Given the description of an element on the screen output the (x, y) to click on. 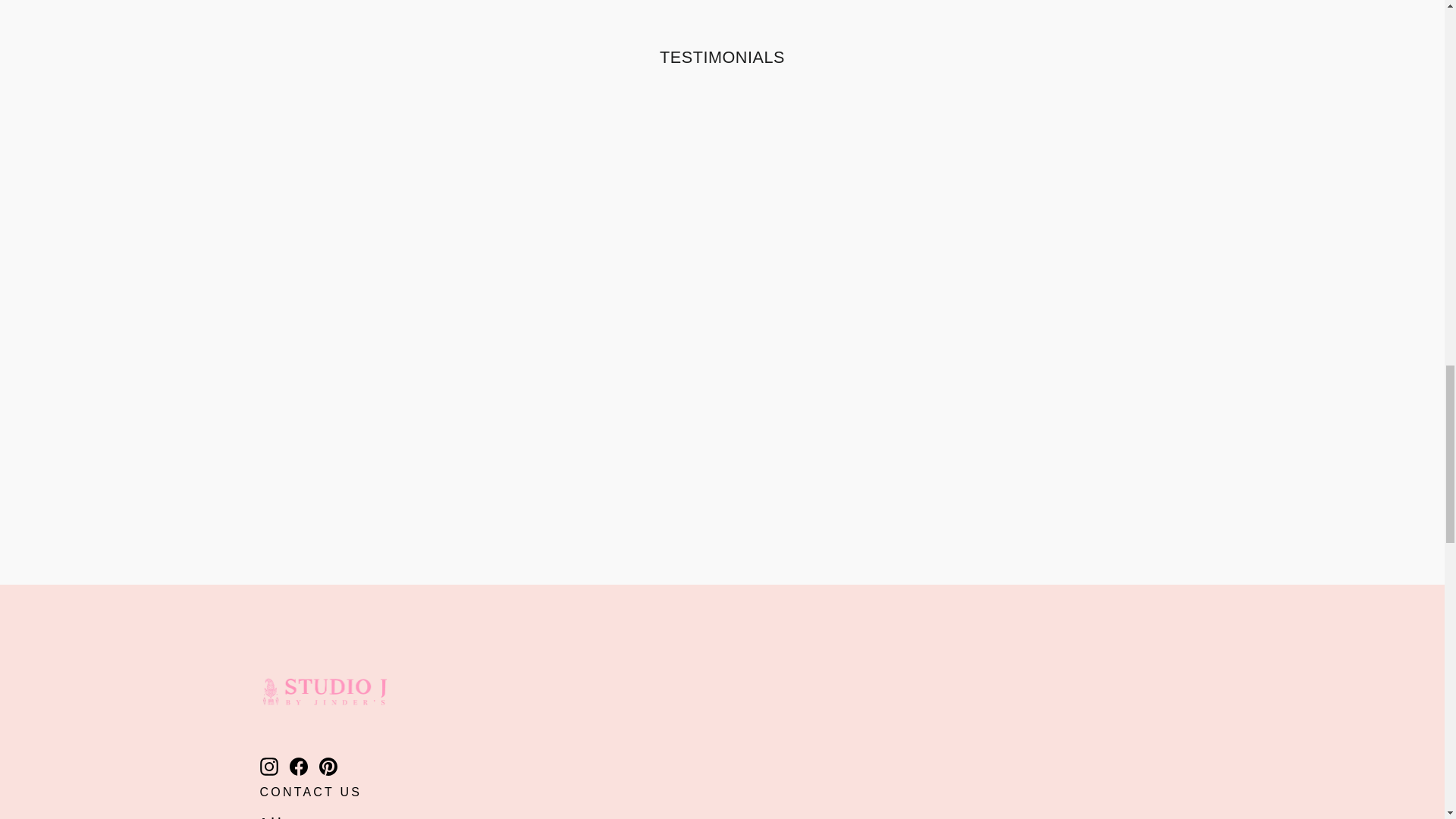
Studio J Shop on Instagram (268, 765)
Studio J Shop on Facebook (298, 765)
Studio J Shop on Pinterest (327, 765)
